Given the description of an element on the screen output the (x, y) to click on. 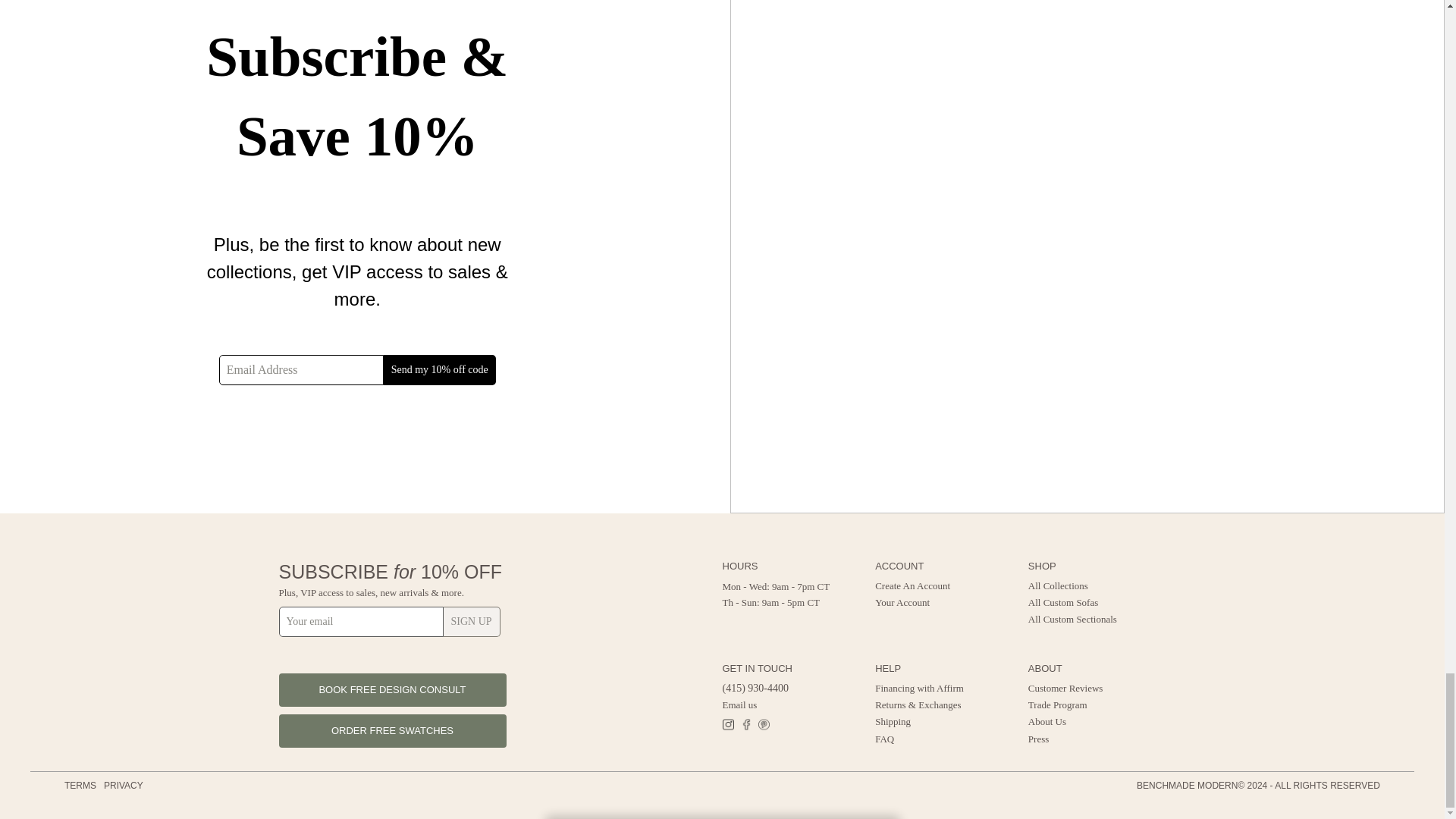
tel:4159304400 (755, 687)
